Given the description of an element on the screen output the (x, y) to click on. 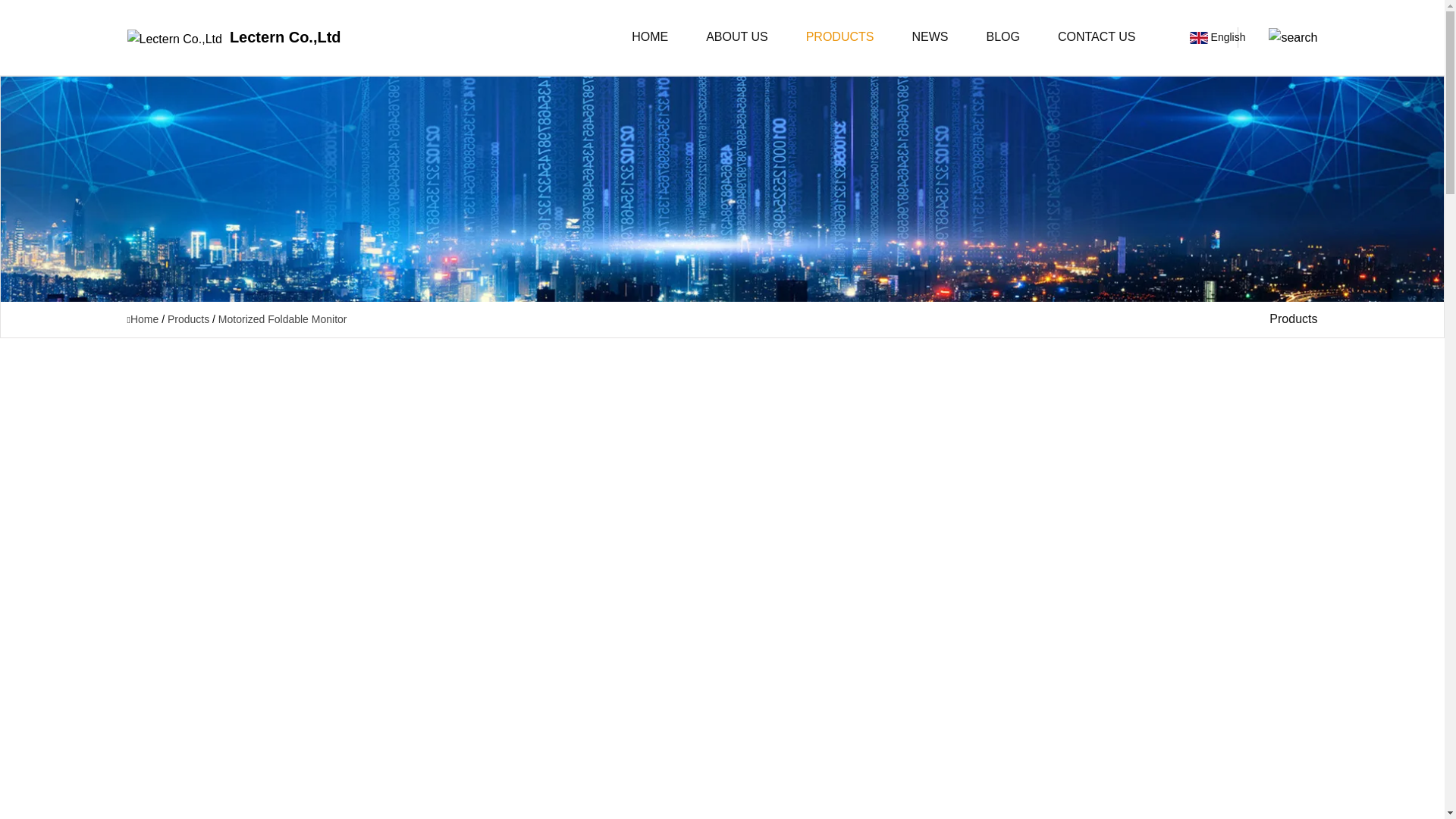
Home (144, 318)
Lectern Co.,Ltd (234, 37)
Products (188, 318)
Motorized Foldable Monitor (282, 318)
CONTACT US (1096, 37)
PRODUCTS (839, 37)
Lectern Co.,Ltd (234, 37)
ABOUT US (736, 37)
